Given the description of an element on the screen output the (x, y) to click on. 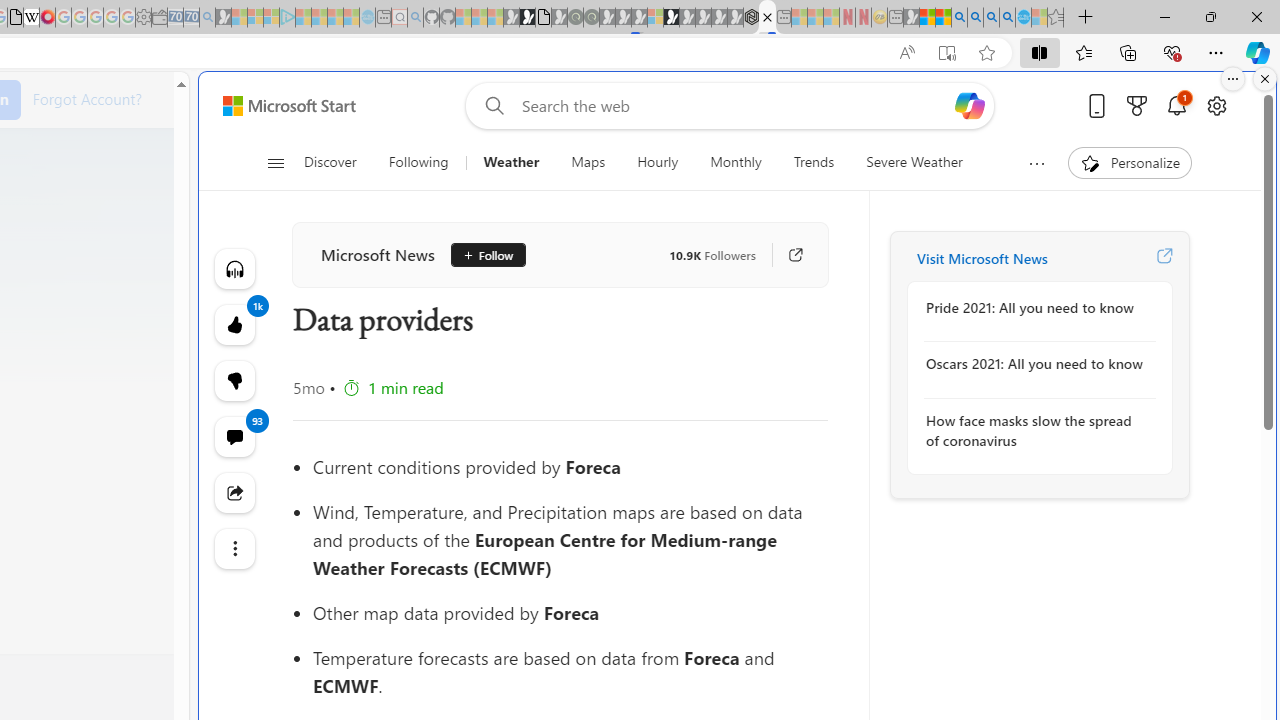
Severe Weather (914, 162)
Following (418, 162)
Pride 2021: All you need to know (1034, 308)
Current conditions provided by Foreca (570, 466)
MediaWiki (47, 17)
Discover (338, 162)
Settings and more (Alt+F) (1215, 52)
Discover (330, 162)
Microsoft account | Privacy - Sleeping (271, 17)
Close tab (767, 16)
Microsoft Start - Sleeping (335, 17)
Enter your search term (734, 106)
